Given the description of an element on the screen output the (x, y) to click on. 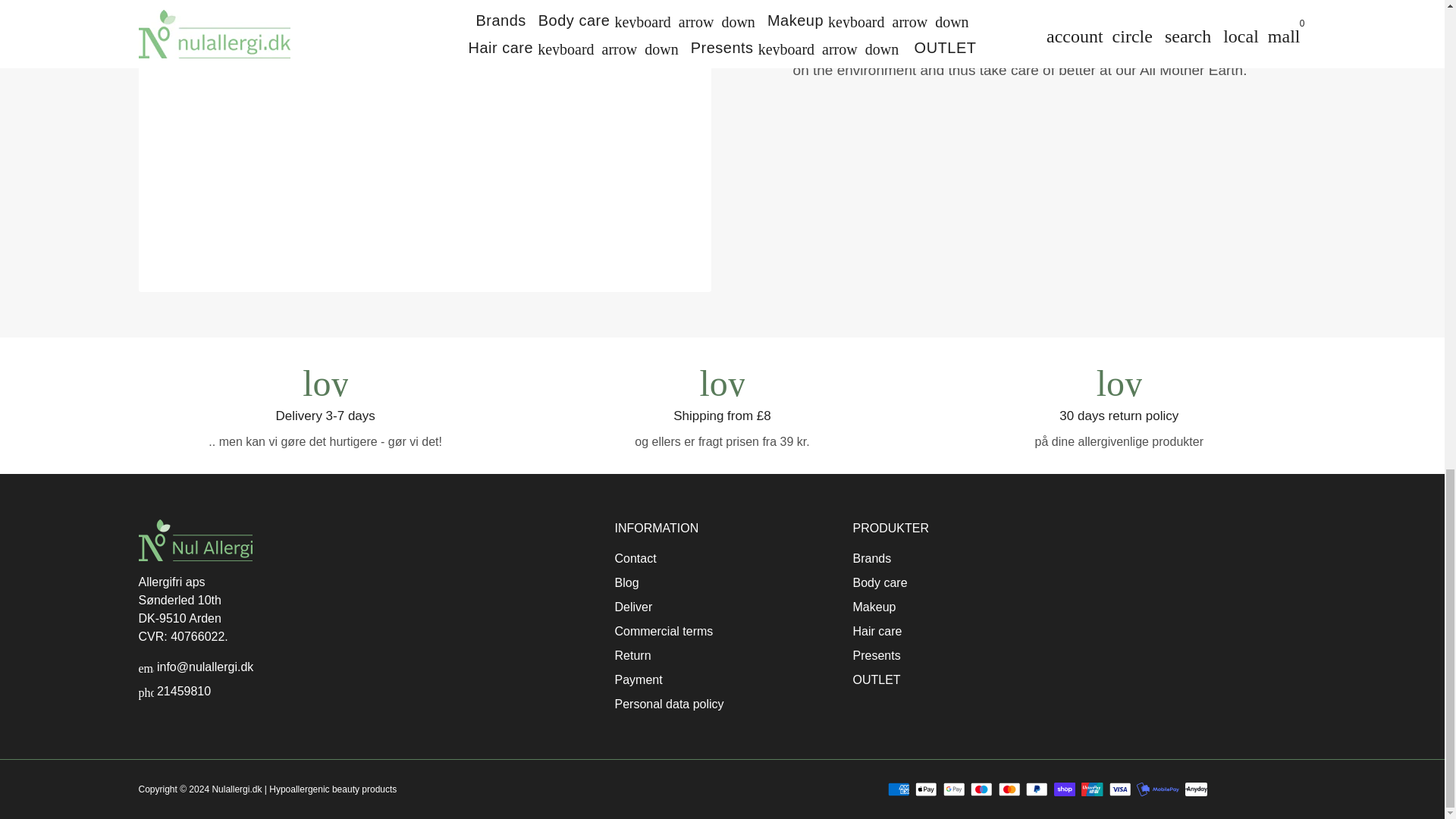
American Express (899, 789)
Visa (1120, 789)
PayPal (1037, 789)
Shop Pay (1064, 789)
Google Pay (954, 789)
Union Pay (1092, 789)
Mastercard (1009, 789)
Apple Pay (925, 789)
Maestro (981, 789)
